Given the description of an element on the screen output the (x, y) to click on. 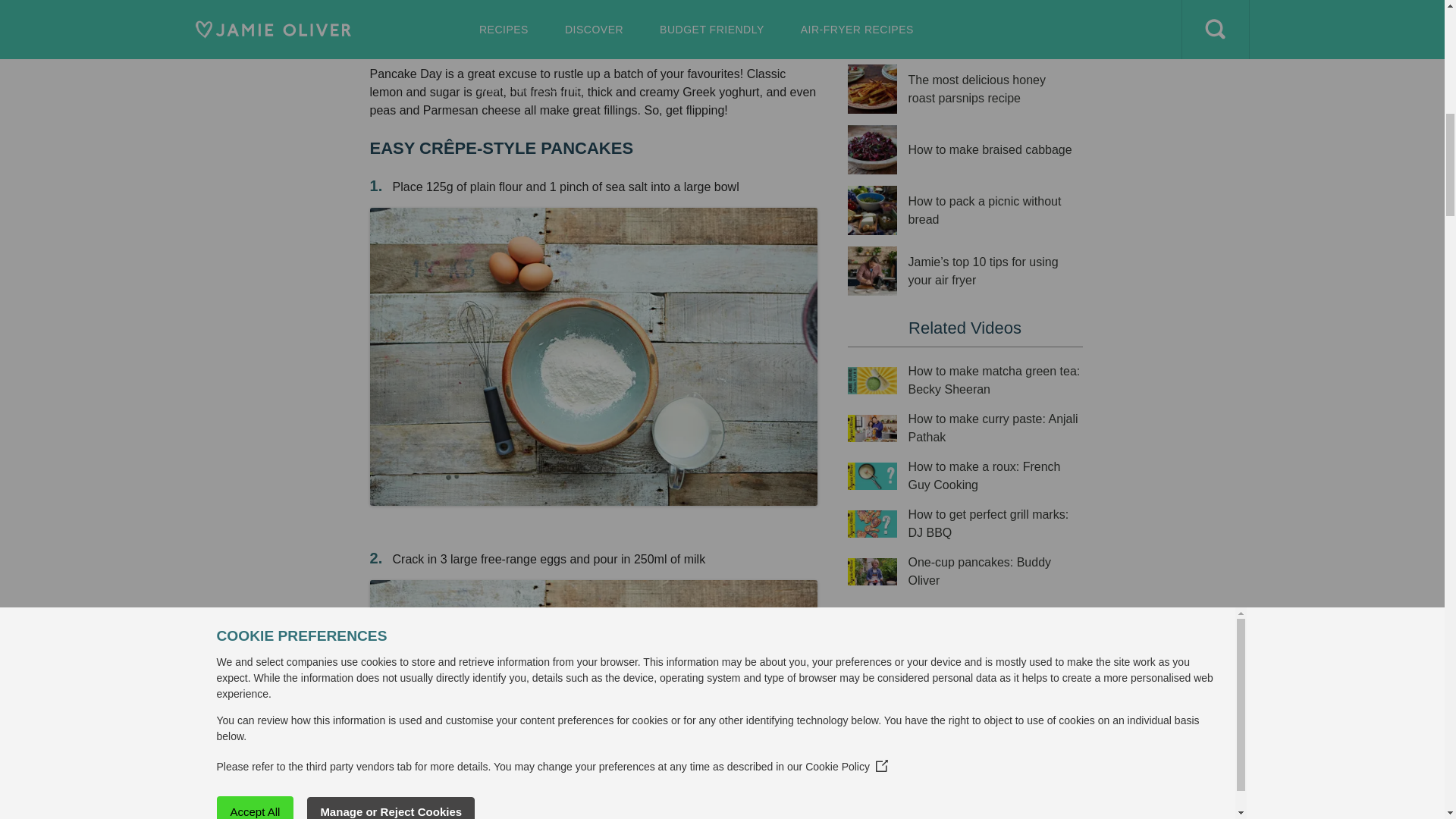
Manage or Reject Cookies (160, 4)
